Given the description of an element on the screen output the (x, y) to click on. 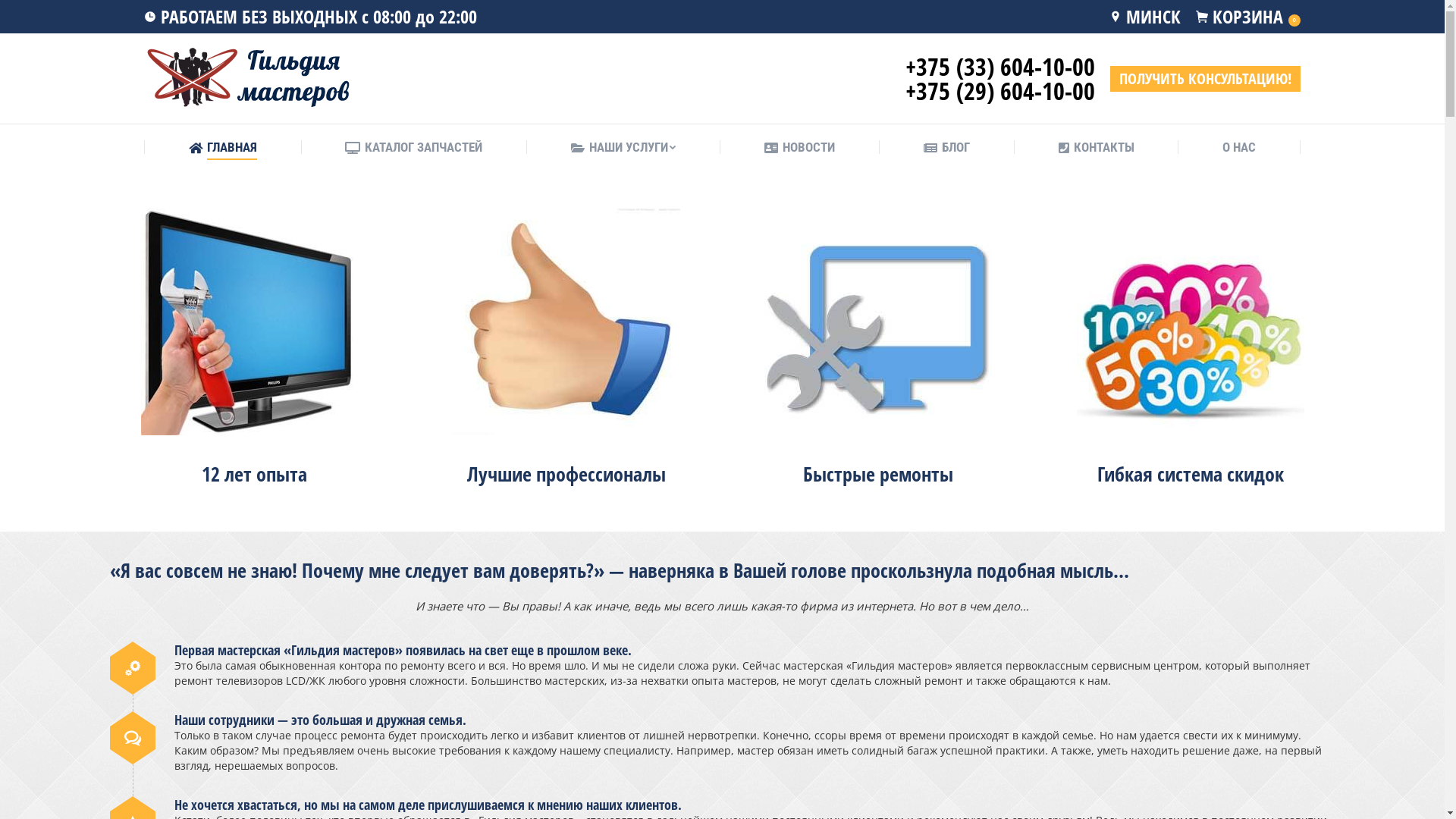
+375 (33) 604-10-00 Element type: text (1000, 66)
+375 (29) 604-10-00 Element type: text (1000, 90)
